Given the description of an element on the screen output the (x, y) to click on. 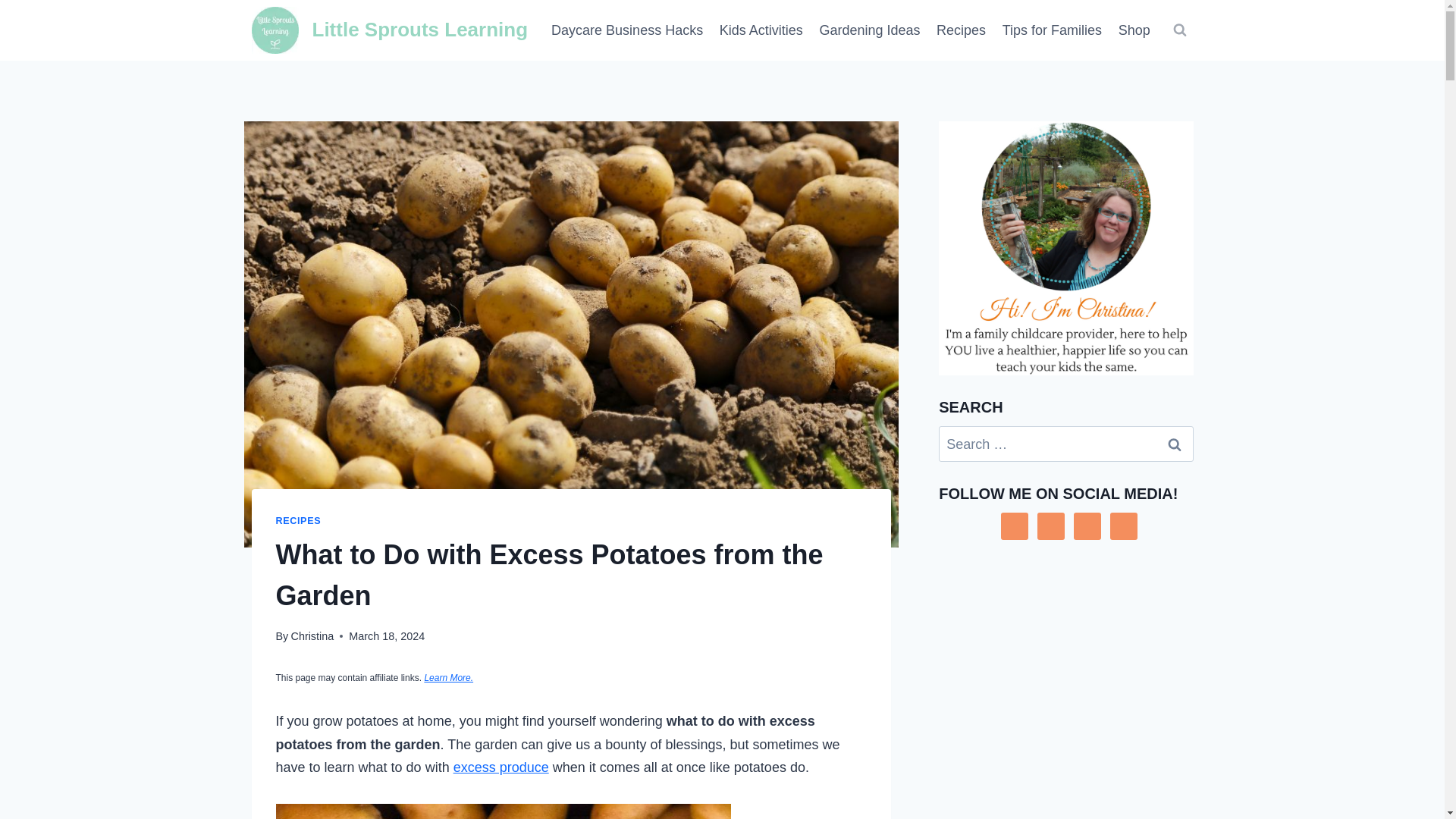
Search (1174, 443)
Kids Activities (760, 29)
Daycare Business Hacks (627, 29)
Christina (311, 635)
Early Childhood Activities (760, 29)
Little Sprouts Learning (389, 30)
Daycare Business Hacks (627, 29)
Search (1174, 443)
